Given the description of an element on the screen output the (x, y) to click on. 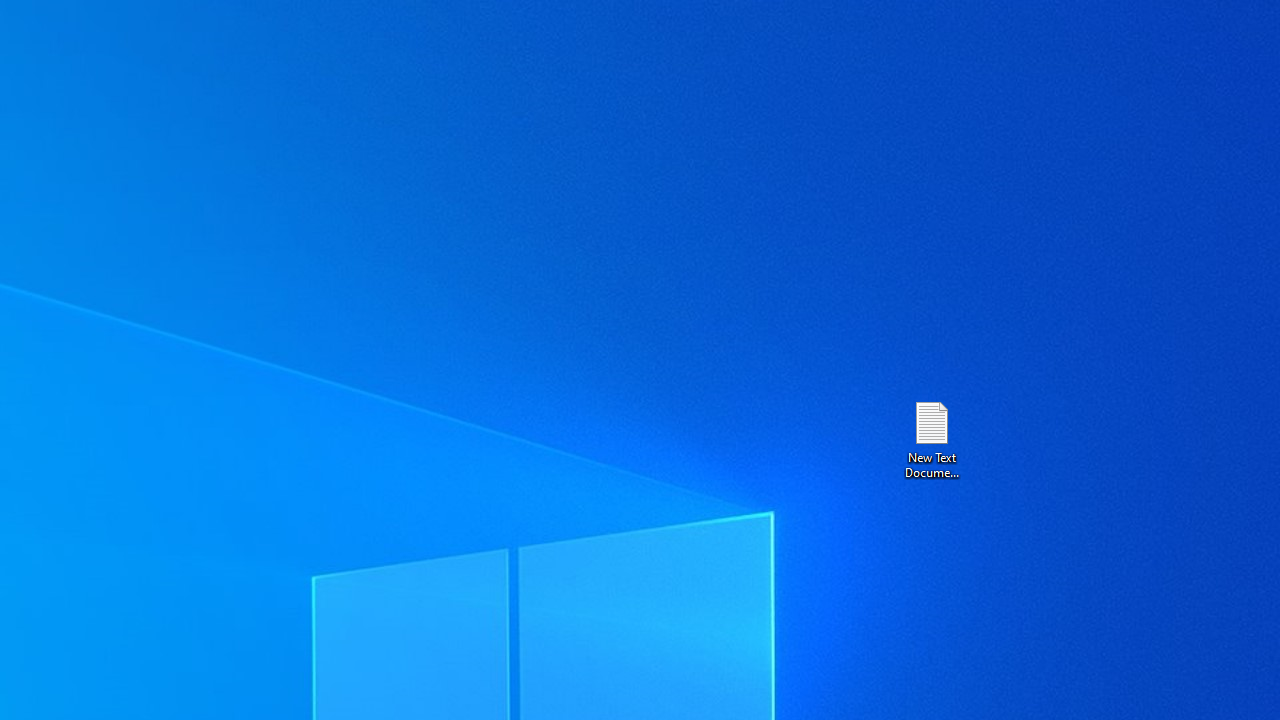
New Text Document (2) (931, 438)
